Given the description of an element on the screen output the (x, y) to click on. 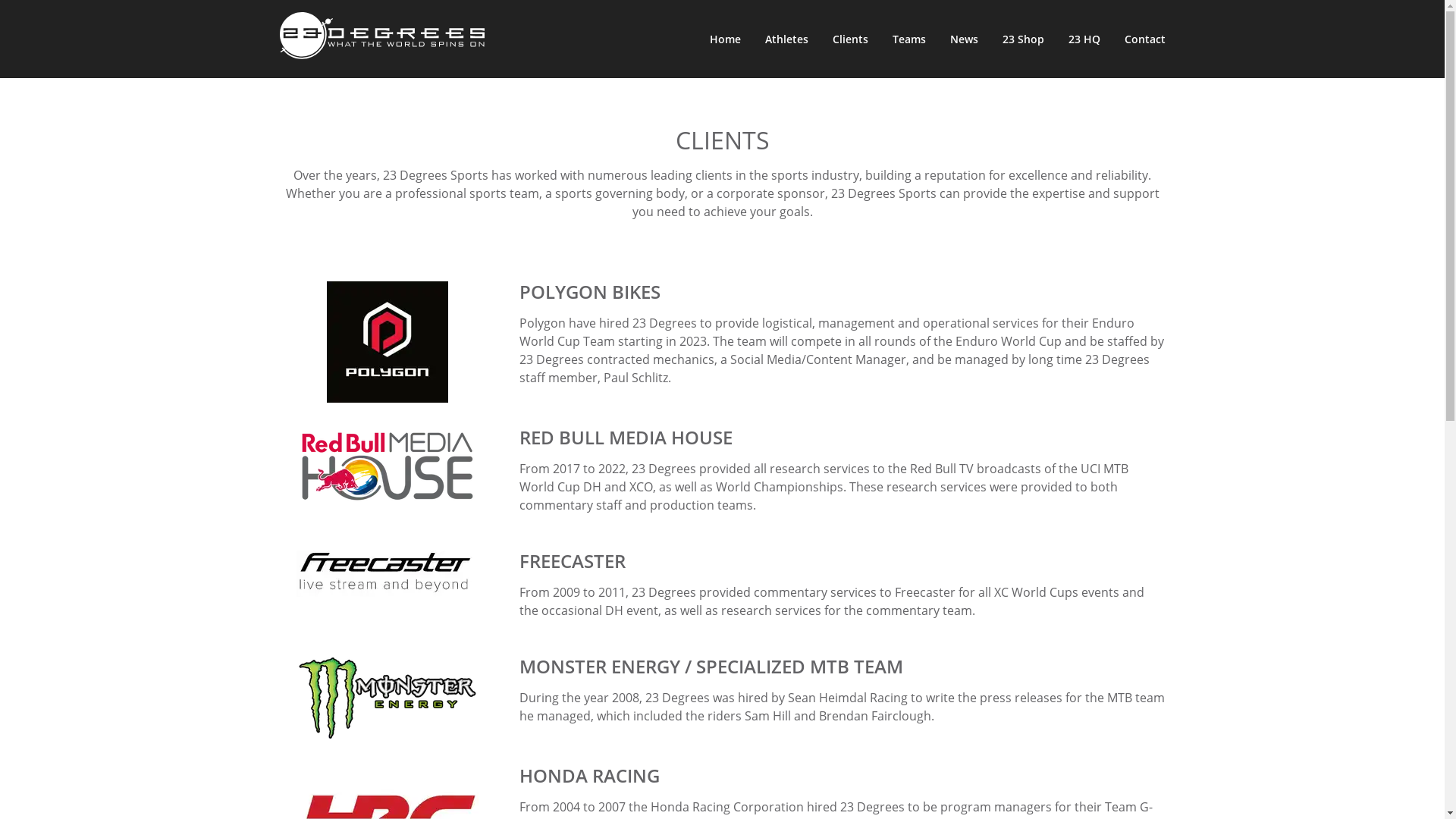
23 Shop Element type: text (1023, 39)
News Element type: text (963, 39)
Athletes Element type: text (785, 39)
Home Element type: text (724, 39)
Clients Element type: text (850, 39)
23 HQ Element type: text (1083, 39)
Contact Element type: text (1143, 39)
Teams Element type: text (908, 39)
